Given the description of an element on the screen output the (x, y) to click on. 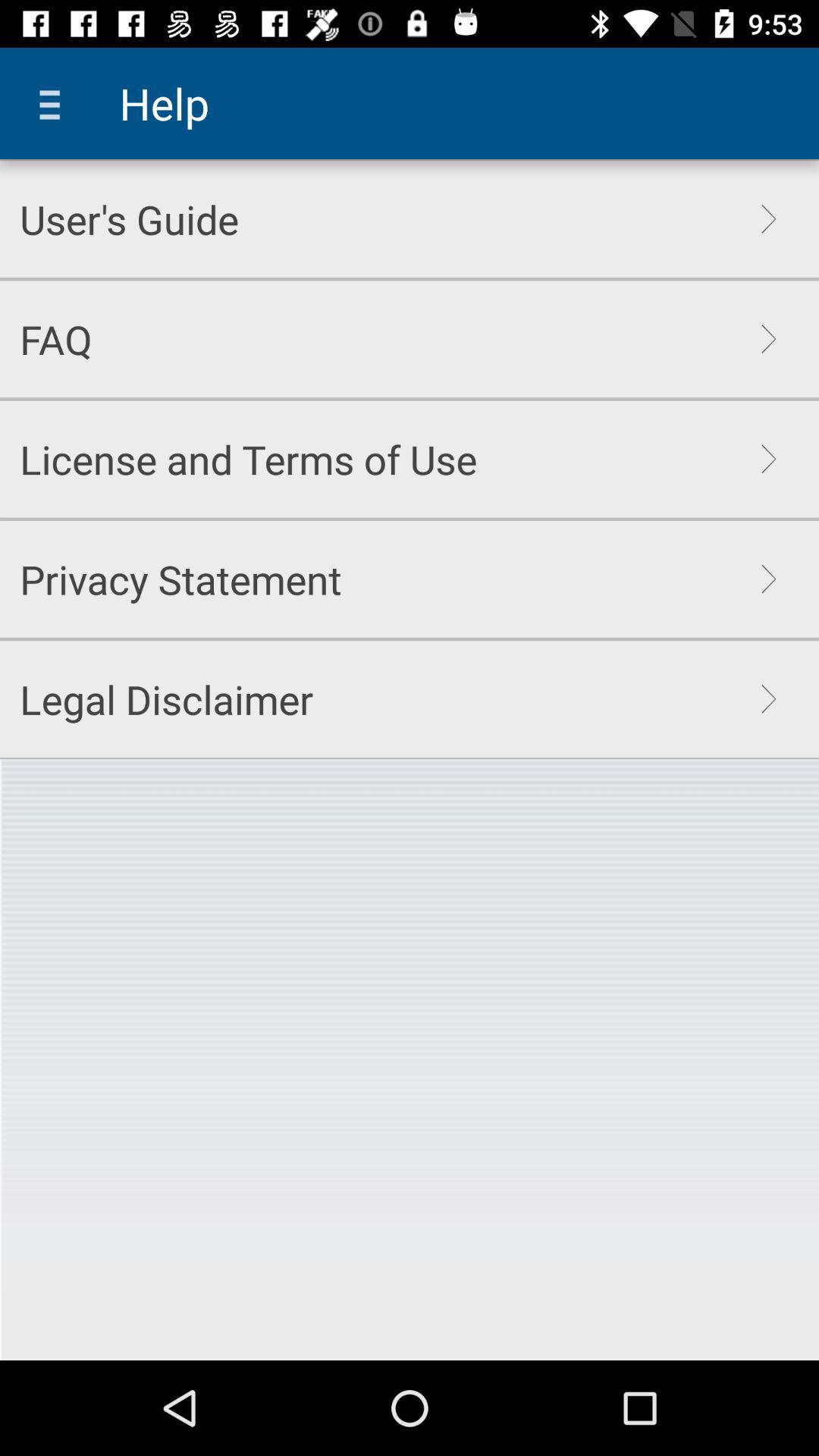
turn on privacy statement (180, 578)
